Given the description of an element on the screen output the (x, y) to click on. 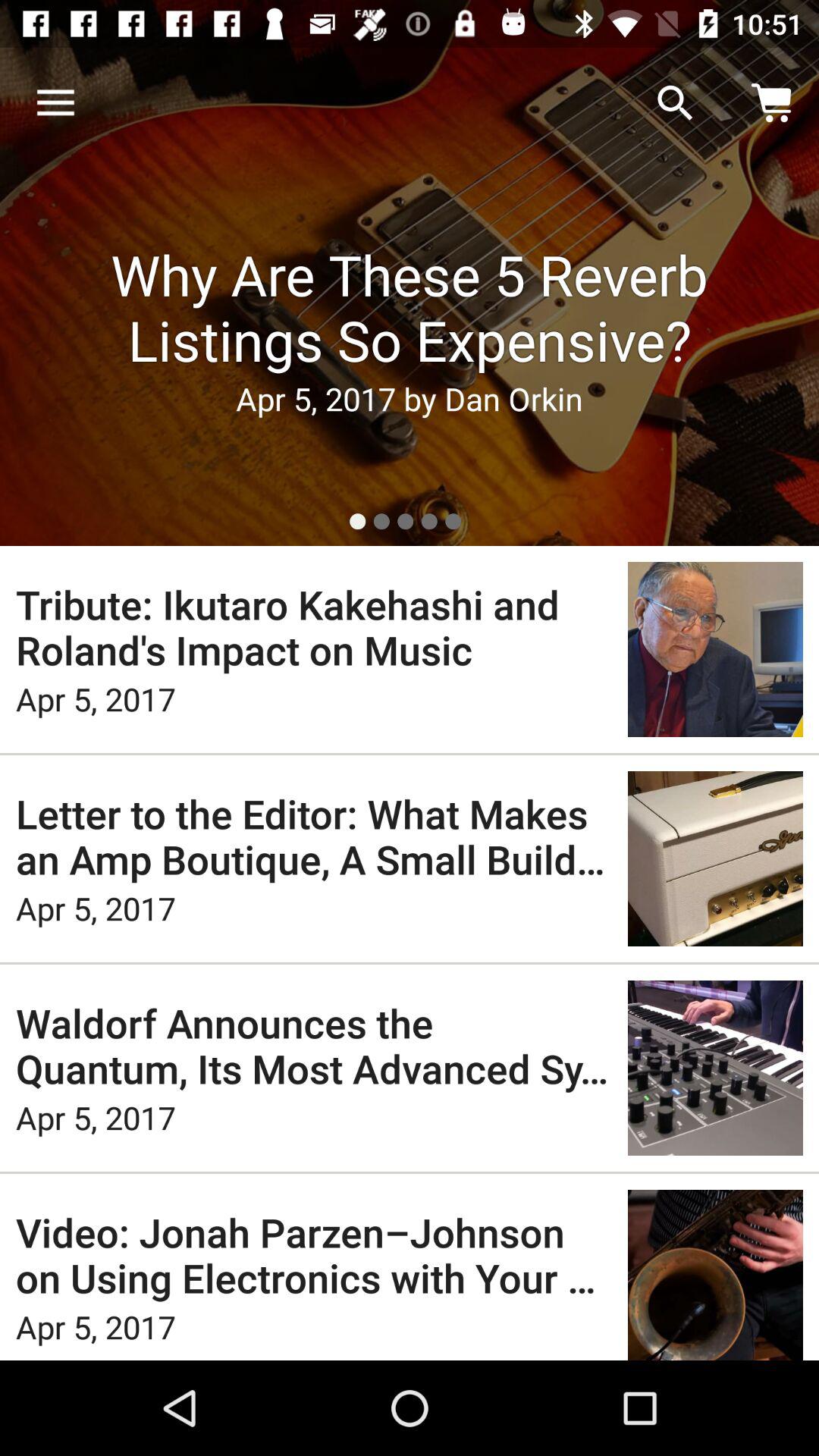
press the icon to the left of news item (55, 103)
